Given the description of an element on the screen output the (x, y) to click on. 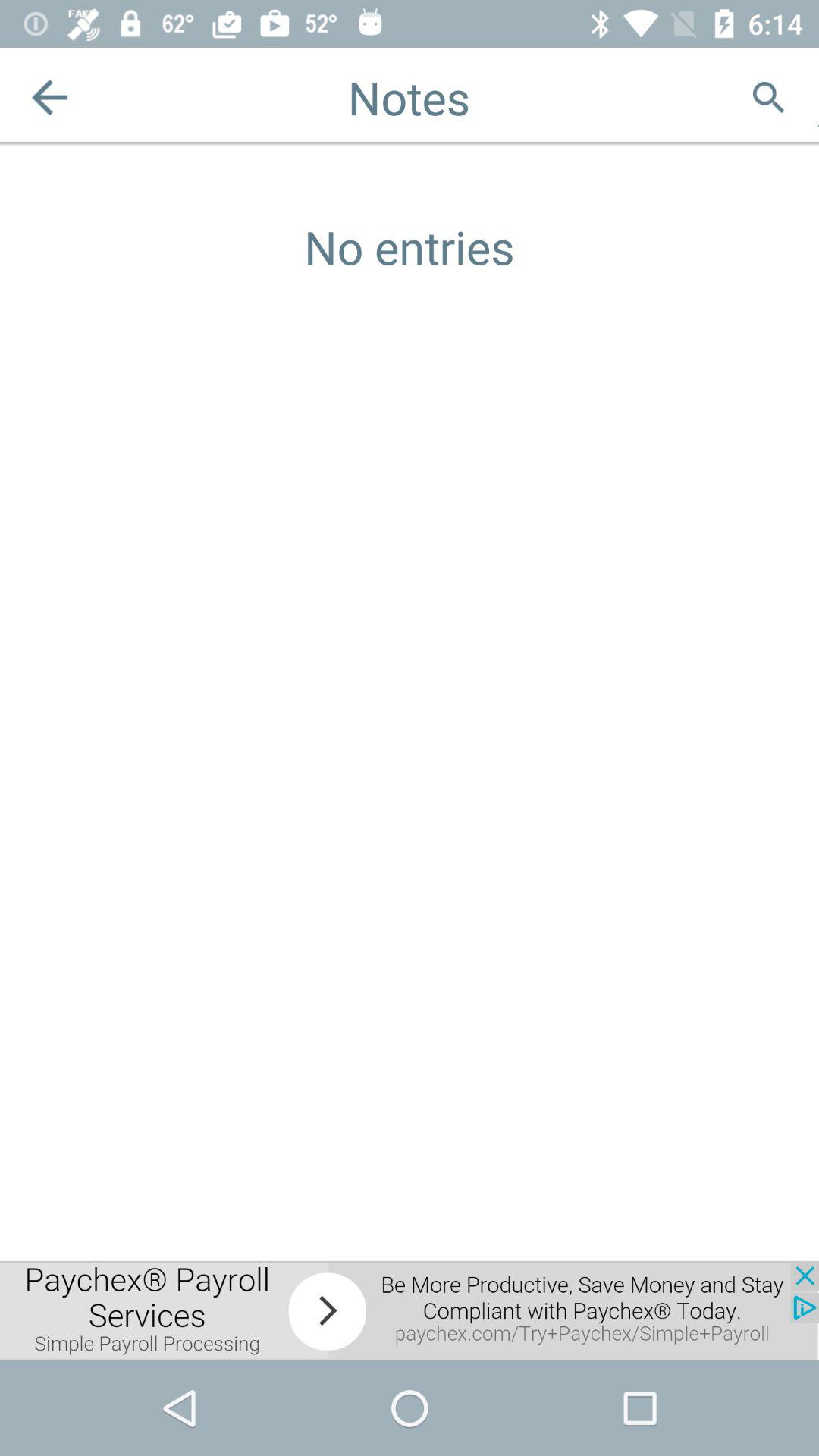
plank page (818, 97)
